Given the description of an element on the screen output the (x, y) to click on. 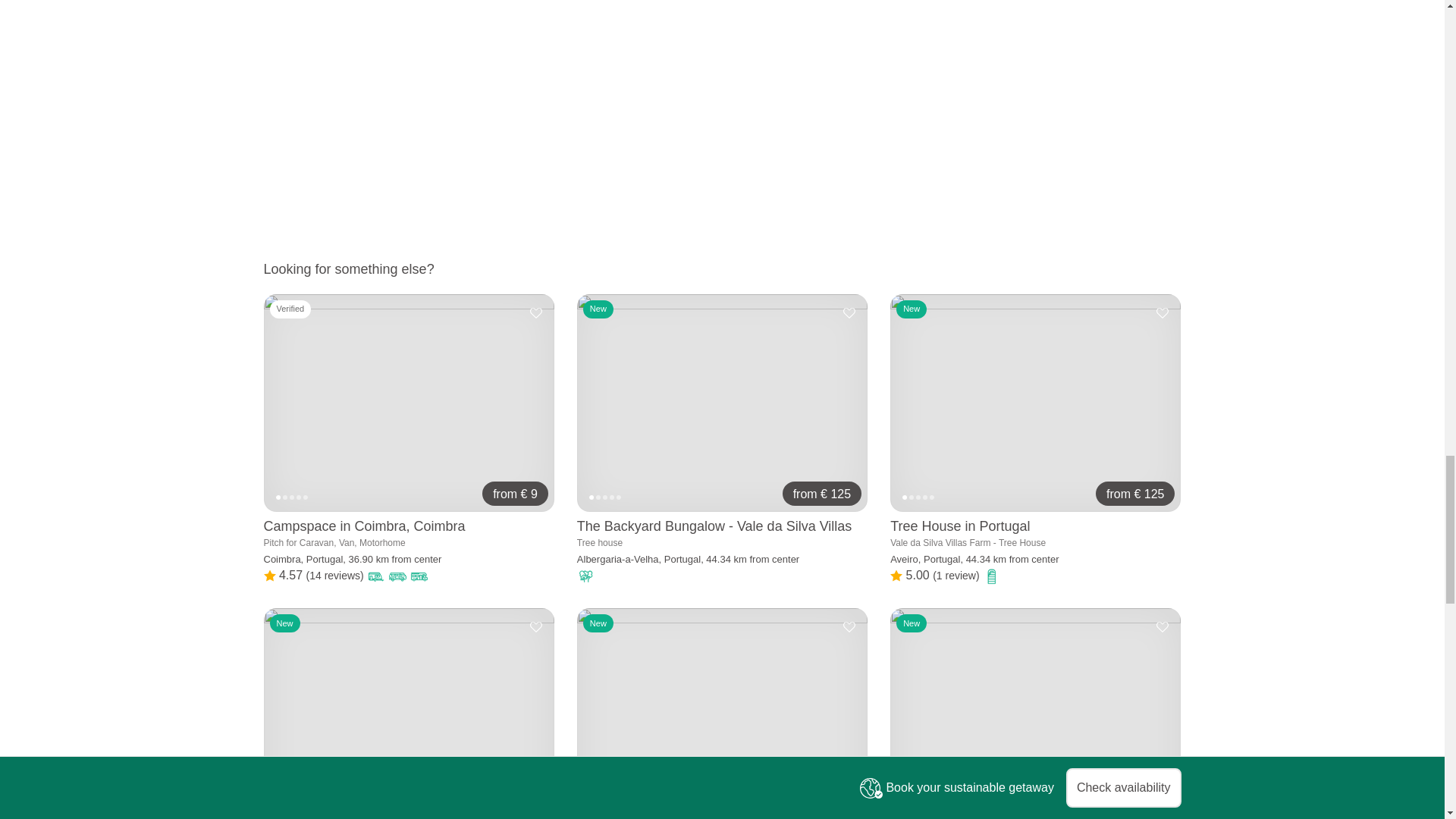
Save (535, 313)
Save (1162, 313)
Save (535, 626)
Save (849, 313)
Save (849, 626)
Save (1162, 626)
